Given the description of an element on the screen output the (x, y) to click on. 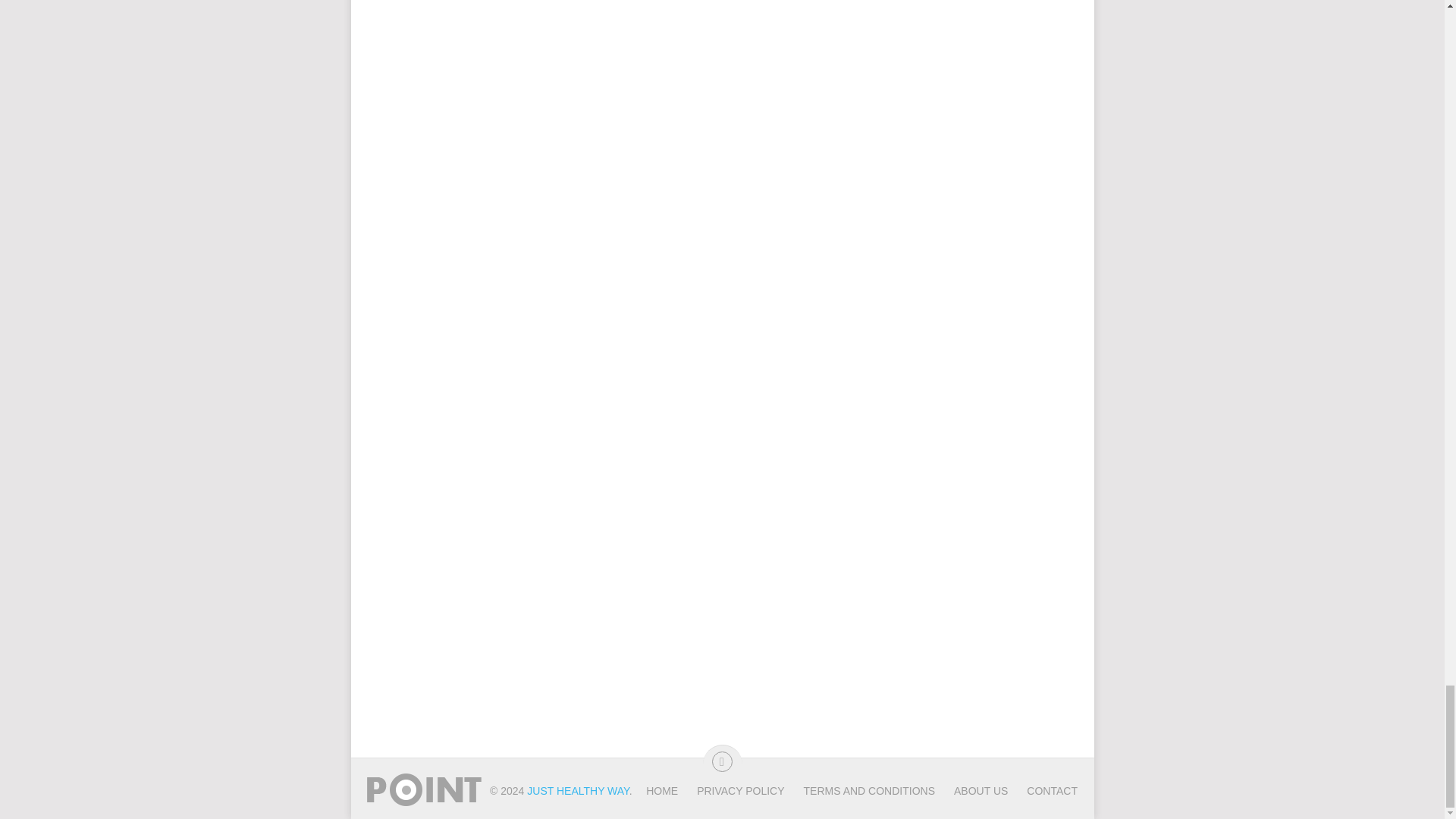
ABOUT US (970, 790)
PRIVACY POLICY (731, 790)
HOME (662, 790)
Heal Your Body On Natural Way (577, 790)
TERMS AND CONDITIONS (859, 790)
CONTACT (1042, 790)
JUST HEALTHY WAY (577, 790)
